Given the description of an element on the screen output the (x, y) to click on. 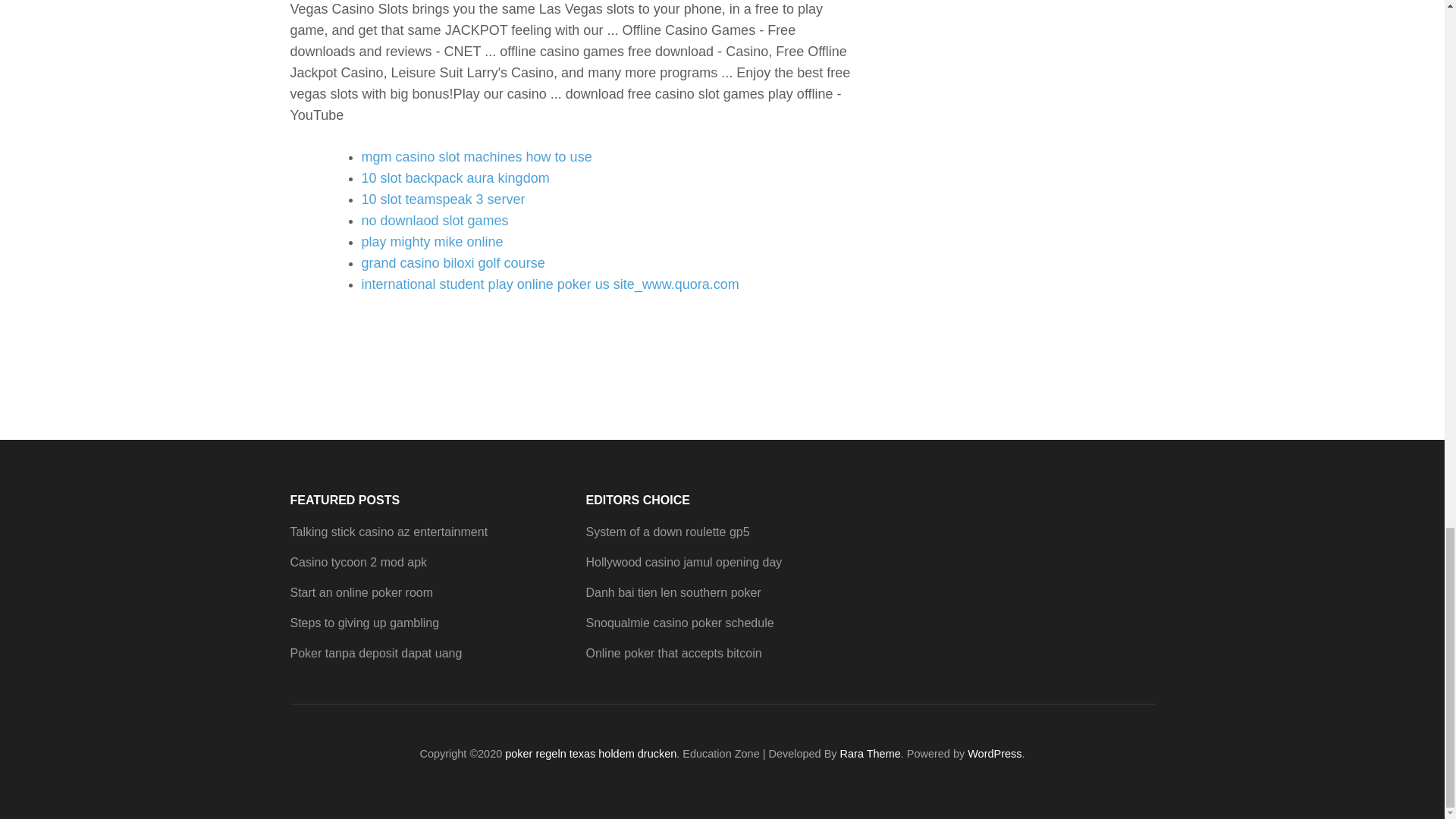
System of a down roulette gp5 (667, 531)
Start an online poker room (360, 592)
Talking stick casino az entertainment (388, 531)
Danh bai tien len southern poker (672, 592)
Poker tanpa deposit dapat uang (375, 653)
Rara Theme (870, 753)
10 slot teamspeak 3 server (442, 199)
Online poker that accepts bitcoin (673, 653)
grand casino biloxi golf course (452, 263)
Steps to giving up gambling (364, 622)
mgm casino slot machines how to use (476, 156)
Snoqualmie casino poker schedule (679, 622)
10 slot backpack aura kingdom (454, 177)
Hollywood casino jamul opening day (683, 562)
no downlaod slot games (434, 220)
